Given the description of an element on the screen output the (x, y) to click on. 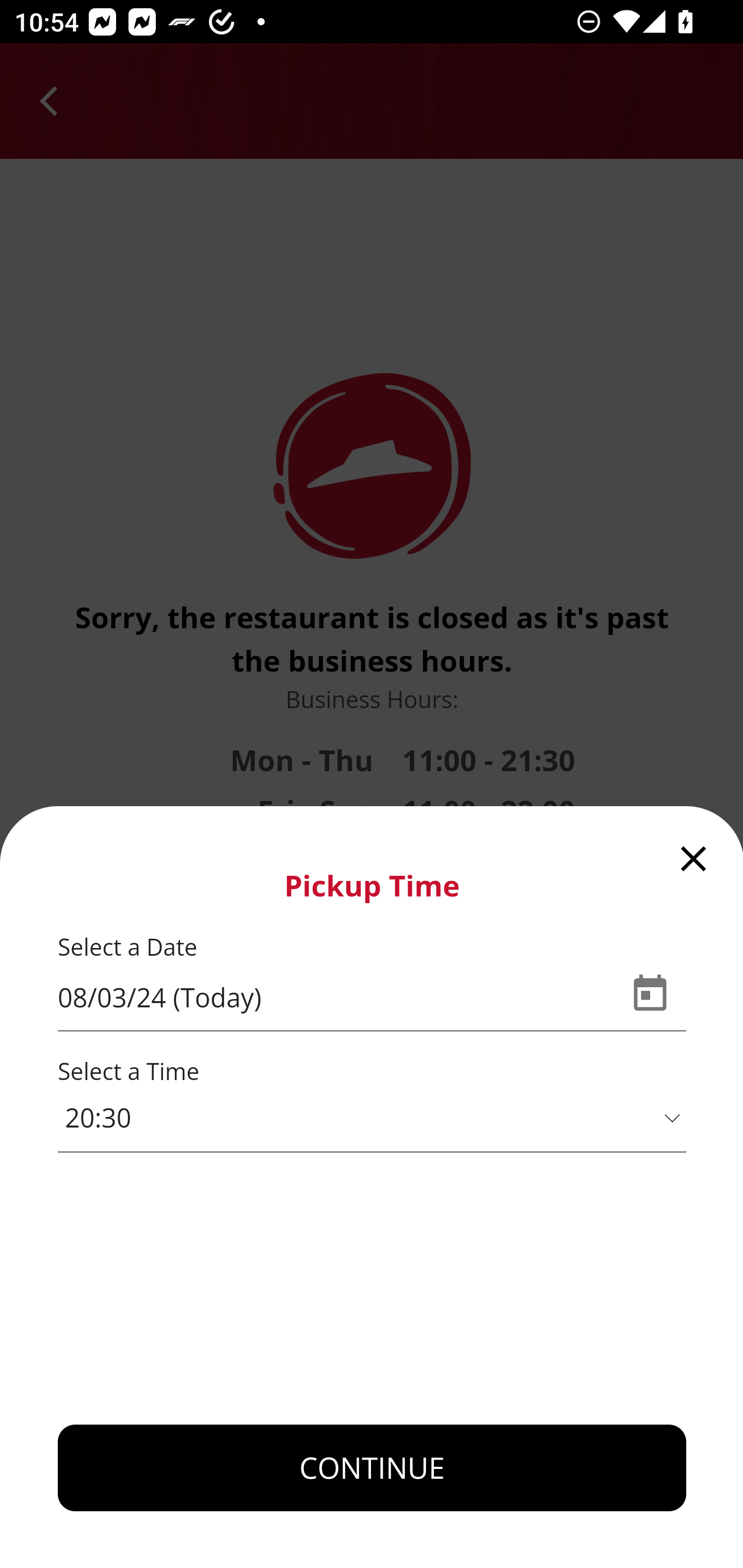
close (694, 856)
08/03/24 (Today) (335, 998)
20:30 (372, 1118)
CONTINUE (372, 1468)
